Given the description of an element on the screen output the (x, y) to click on. 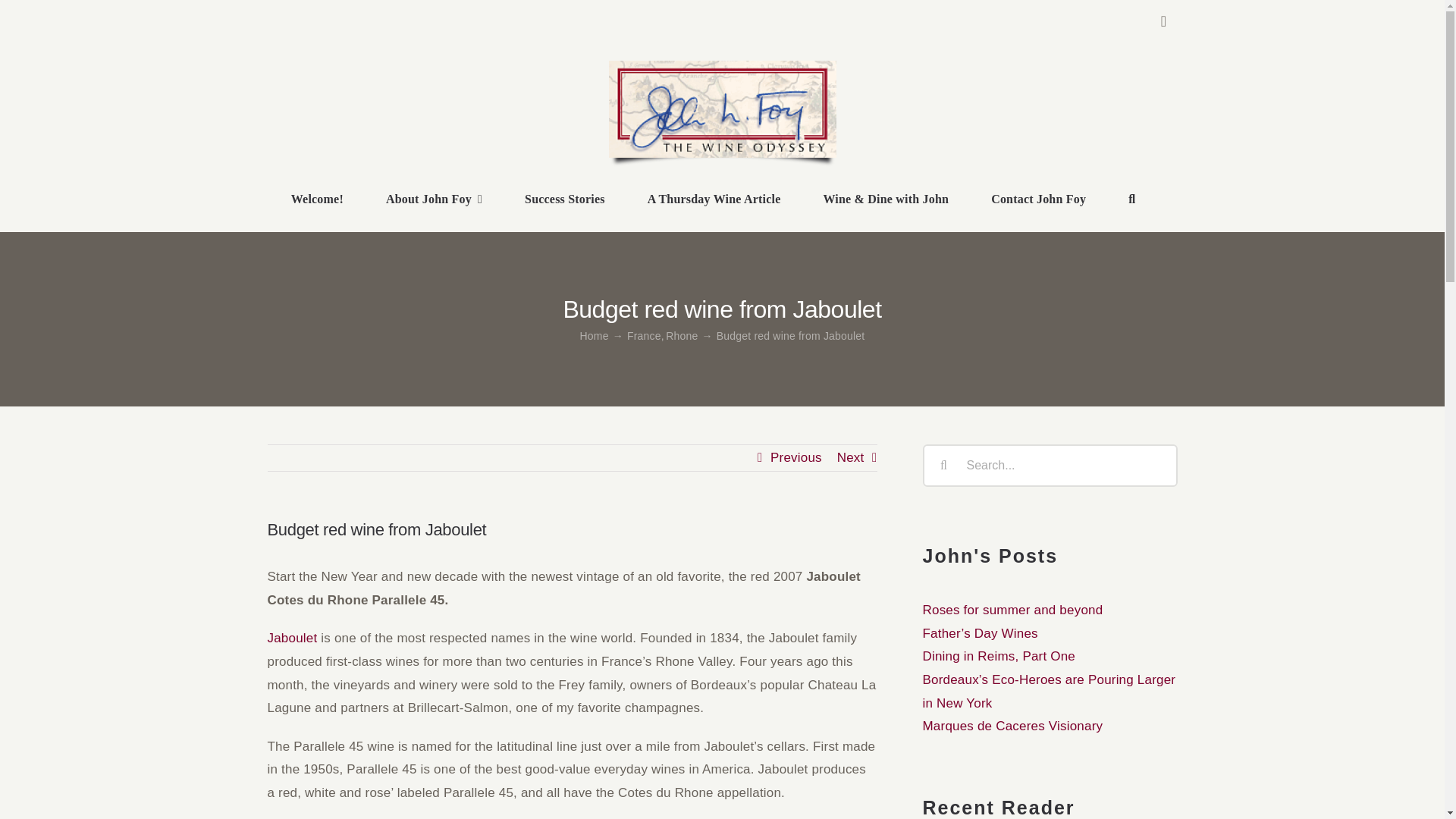
About John Foy (433, 200)
Rhone (681, 336)
Contact John Foy (1038, 200)
Success Stories (564, 200)
Jaboulet (291, 637)
Home (593, 336)
A Thursday Wine Article (714, 200)
Previous (796, 457)
France (644, 336)
Welcome! (316, 200)
Next (850, 457)
Search (1131, 200)
